Given the description of an element on the screen output the (x, y) to click on. 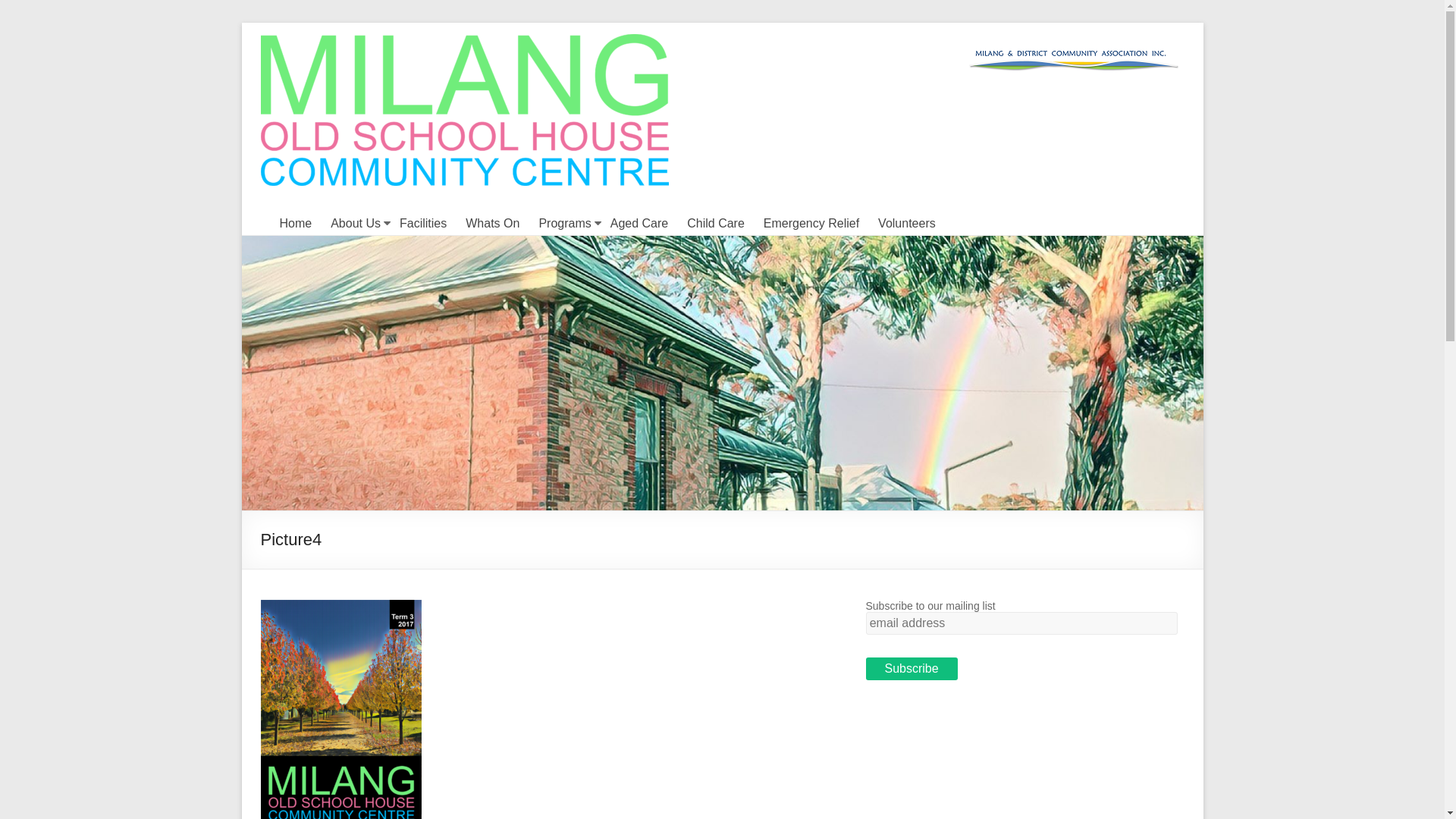
Home Element type: text (295, 223)
Aged Care Element type: text (639, 223)
Child Care Element type: text (715, 223)
Skip to content Element type: text (241, 21)
Volunteers Element type: text (906, 223)
MOSHCC Element type: text (319, 53)
Emergency Relief Element type: text (811, 223)
About Us Element type: text (355, 223)
Programs Element type: text (564, 223)
Facilities Element type: text (422, 223)
Subscribe Element type: text (911, 668)
Whats On Element type: text (492, 223)
